Given the description of an element on the screen output the (x, y) to click on. 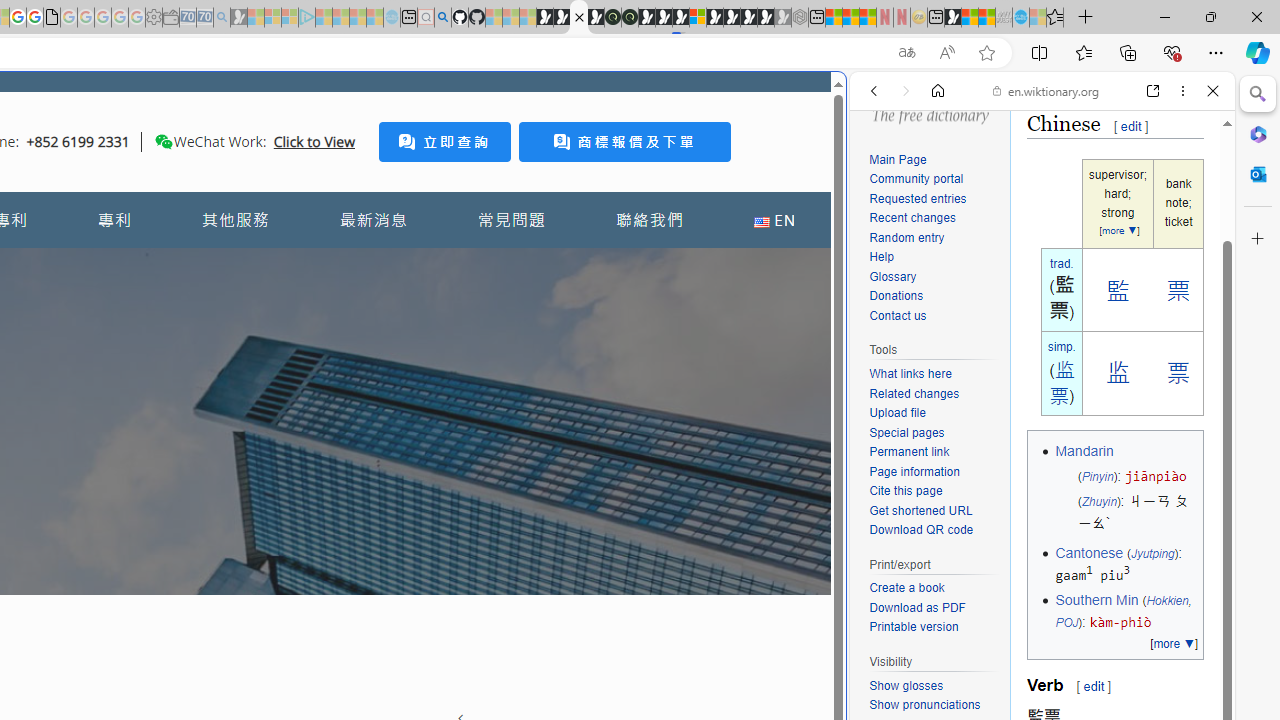
Printable version (934, 627)
en.wiktionary.org (1046, 90)
Cantonese (1088, 552)
